Given the description of an element on the screen output the (x, y) to click on. 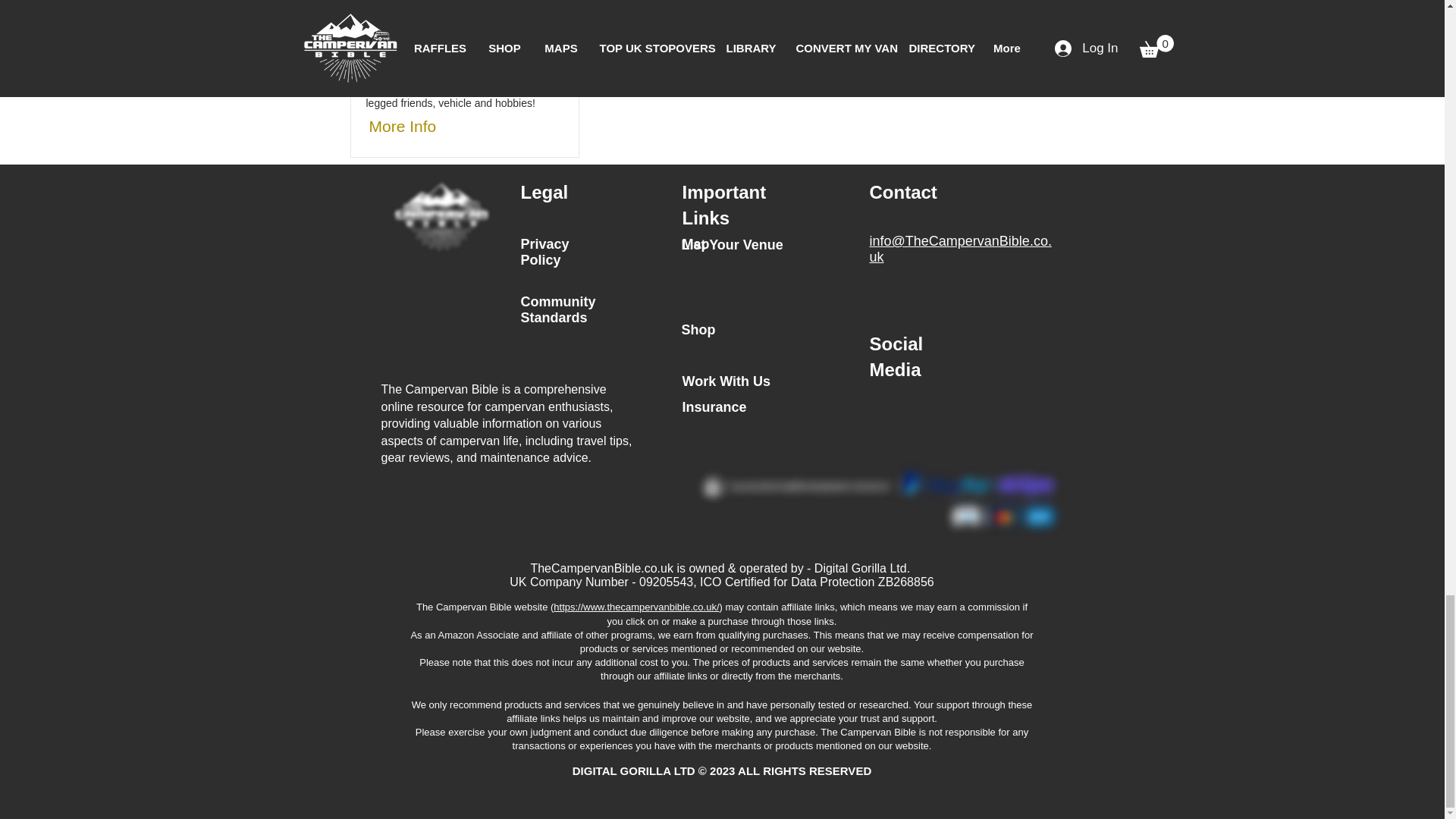
More Info (412, 126)
